Given the description of an element on the screen output the (x, y) to click on. 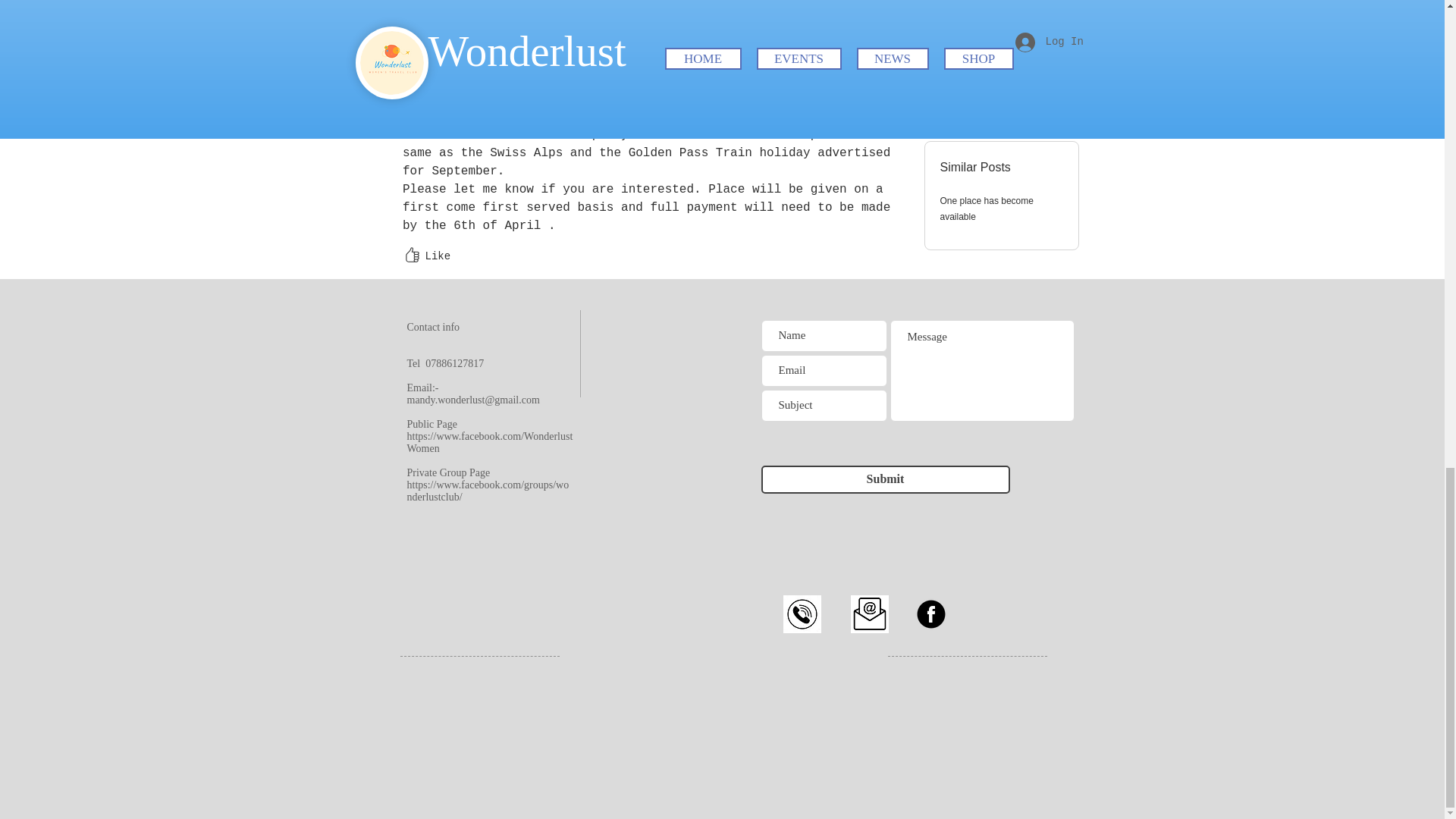
Submit (885, 479)
Mandy Hood (440, 35)
Like (425, 256)
Mandy Hood (379, 42)
